Given the description of an element on the screen output the (x, y) to click on. 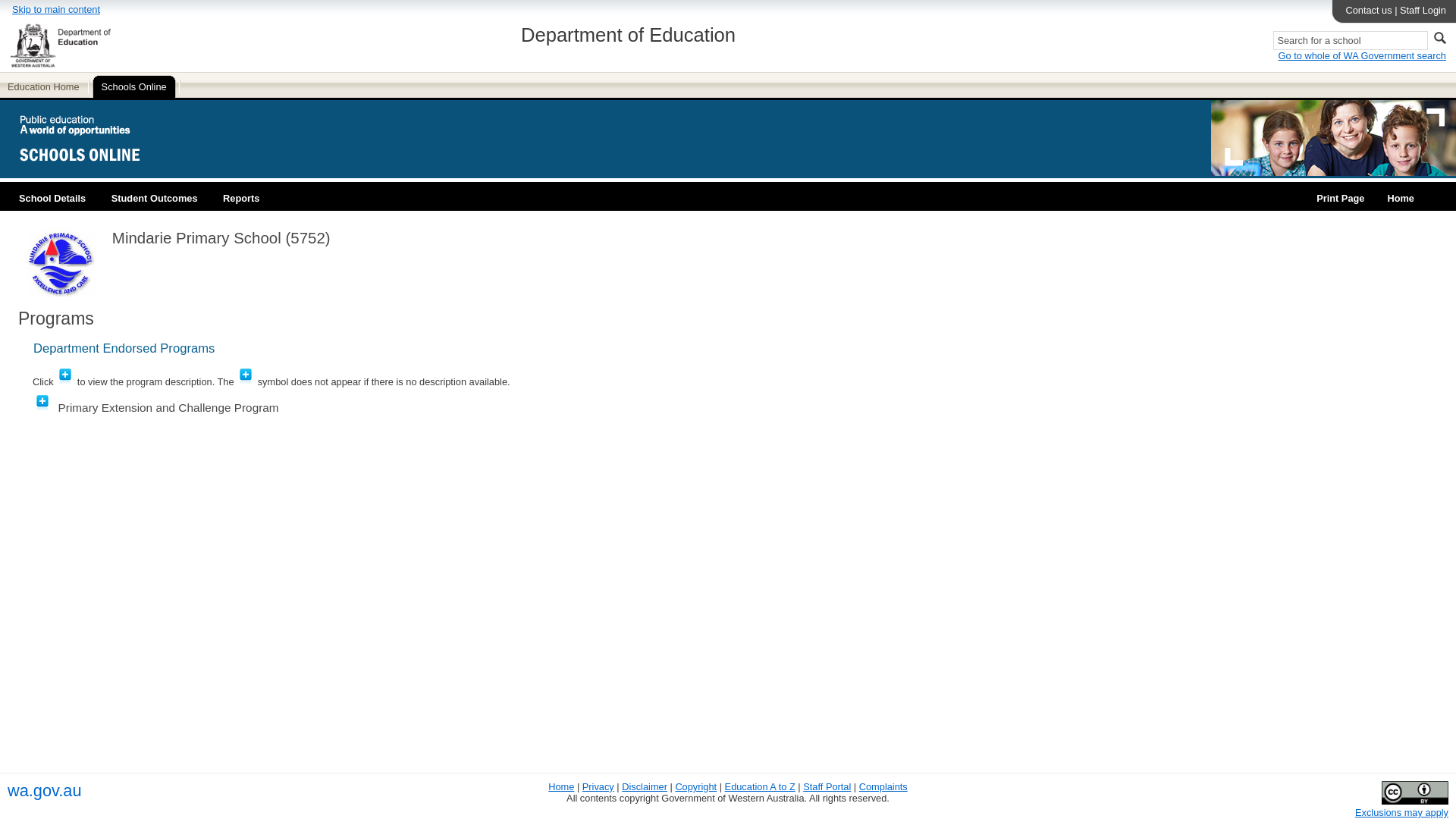
Staff login to secured version of Schools Online (1422, 9)
Copyright (695, 786)
Return to the Department of Education home page (60, 64)
Student Outcomes (155, 192)
Return to the Department of Education home page (560, 786)
Find a School (1400, 192)
Education Home (45, 84)
WA Government Online Entry Point's search page (1361, 55)
Print Page (1340, 192)
Home (560, 786)
A to Z navigation for schools list (1308, 225)
Education A to Z (759, 786)
Return to the Department of Education home page (45, 84)
A to Z listing of the Department's sites (759, 786)
Schools Online (135, 84)
